Given the description of an element on the screen output the (x, y) to click on. 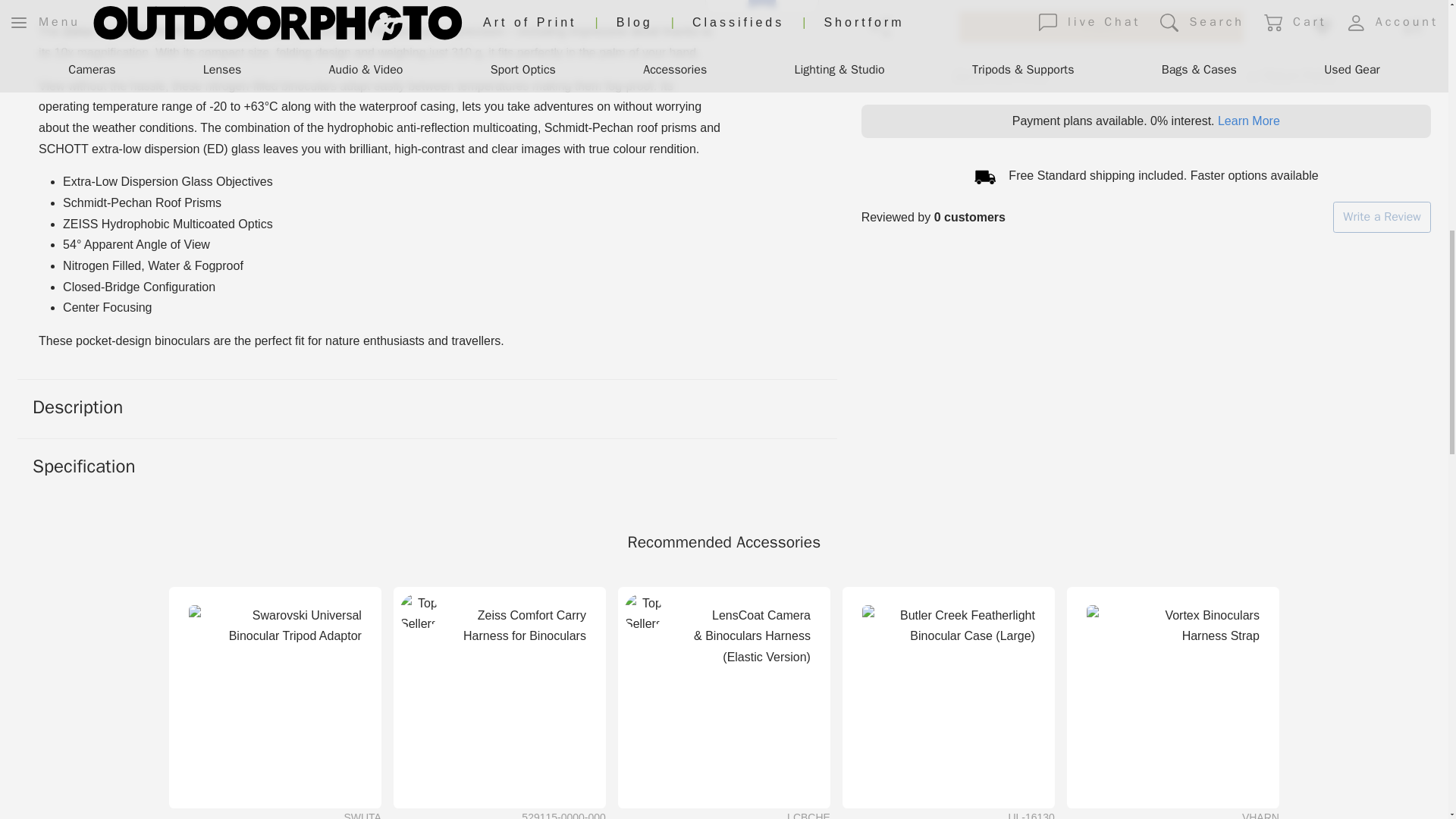
Contact Me About Availability (1101, 27)
Share this page (880, 27)
Description (427, 407)
Vortex Binoculars Harness Strap (1172, 691)
Swarovski Universal Binocular Tripod Adaptor (761, 9)
Zeiss Comfort Carry Harness for Binoculars (275, 691)
